Given the description of an element on the screen output the (x, y) to click on. 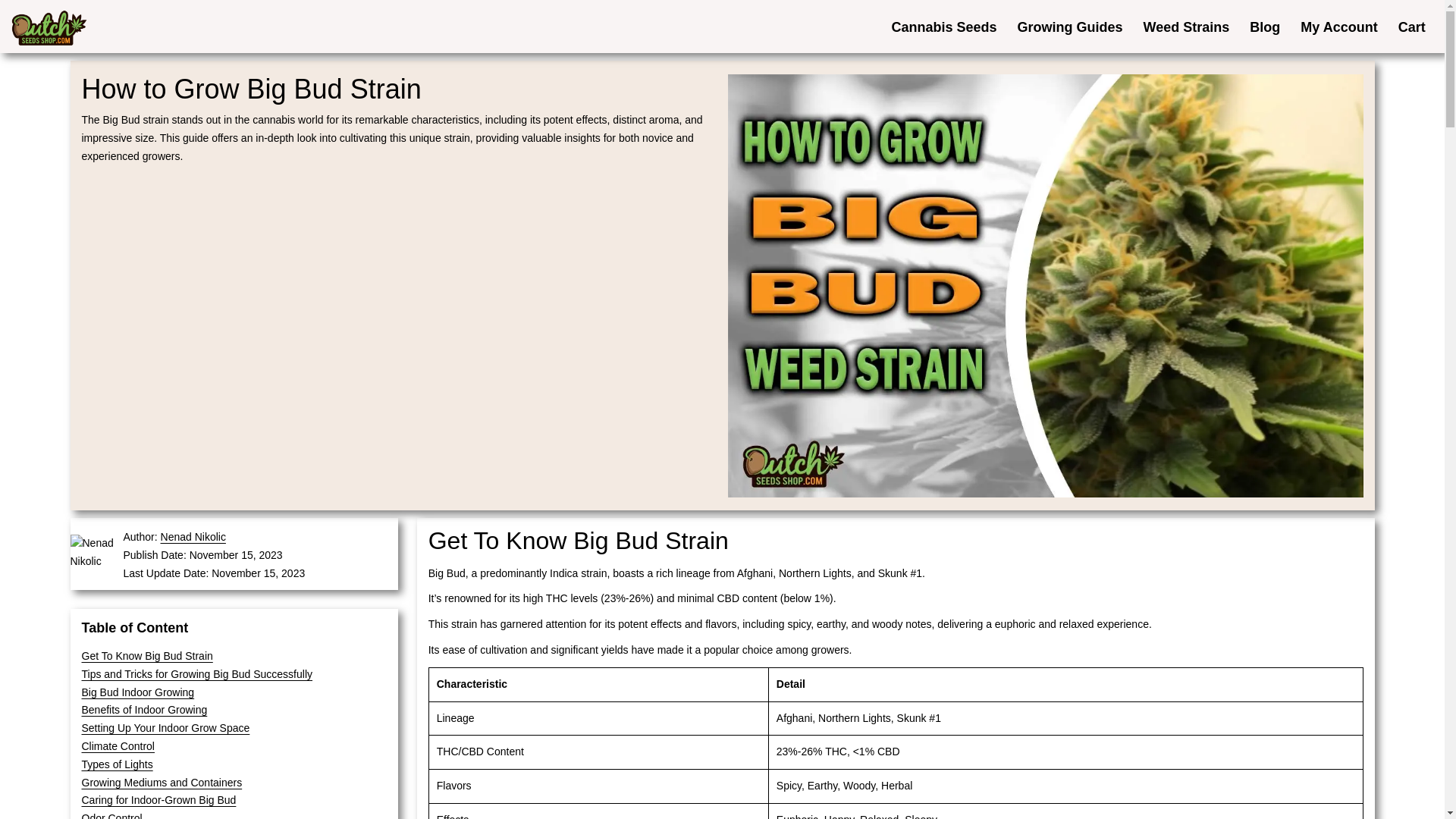
Climate Control (117, 746)
Types of Lights (116, 764)
Growing Guides (1069, 26)
Benefits of Indoor Growing (144, 709)
Nenad Nikolic (192, 536)
Setting Up Your Indoor Grow Space (165, 727)
Cannabis Seeds (943, 26)
Get To Know Big Bud Strain (146, 655)
Cart (1411, 26)
Weed Strains (1186, 26)
Big Bud Indoor Growing (138, 692)
My Account (1338, 26)
Tips and Tricks for Growing Big Bud Successfully (197, 674)
Blog (1265, 26)
